Given the description of an element on the screen output the (x, y) to click on. 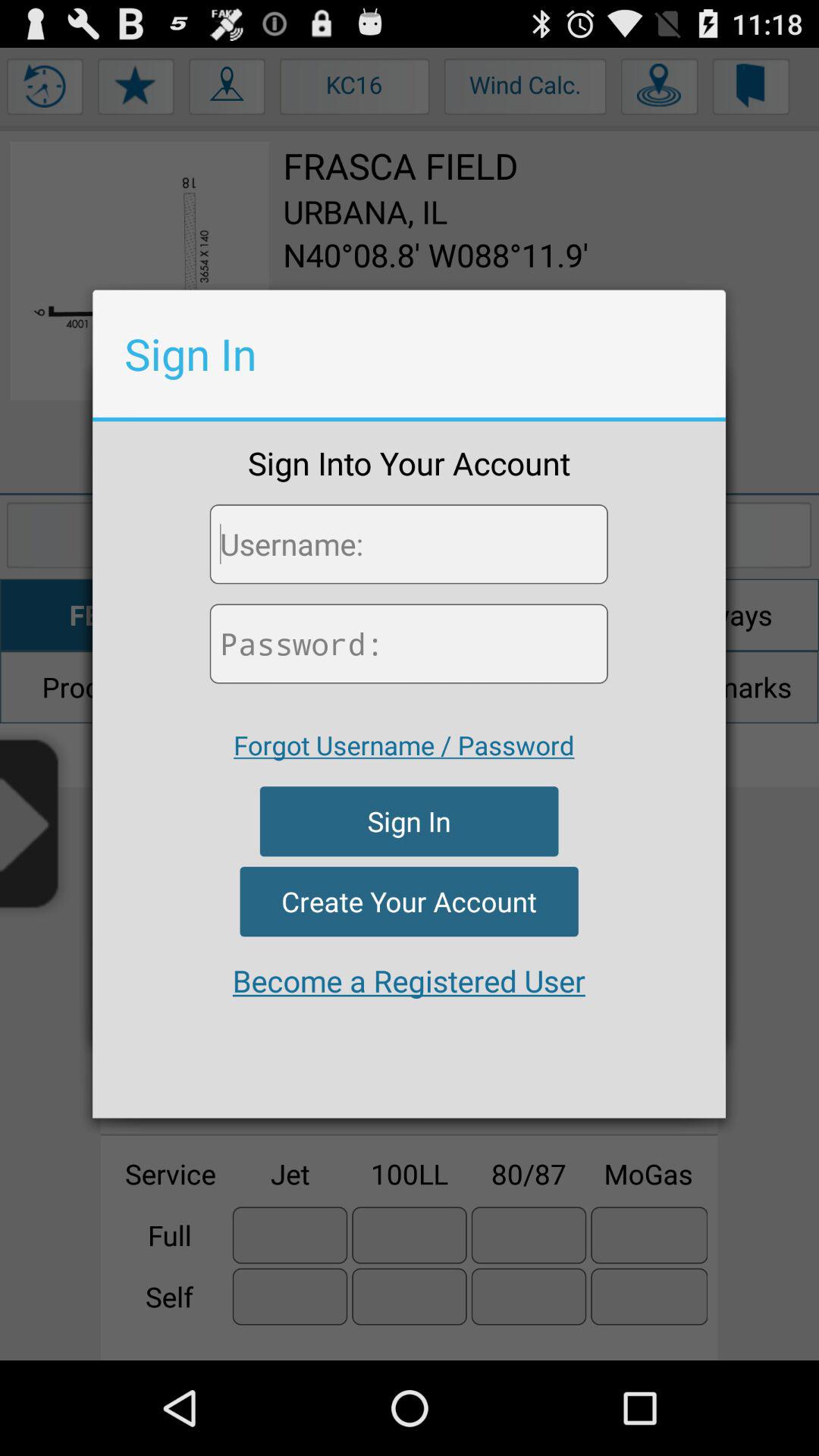
enter your username to login (408, 544)
